Given the description of an element on the screen output the (x, y) to click on. 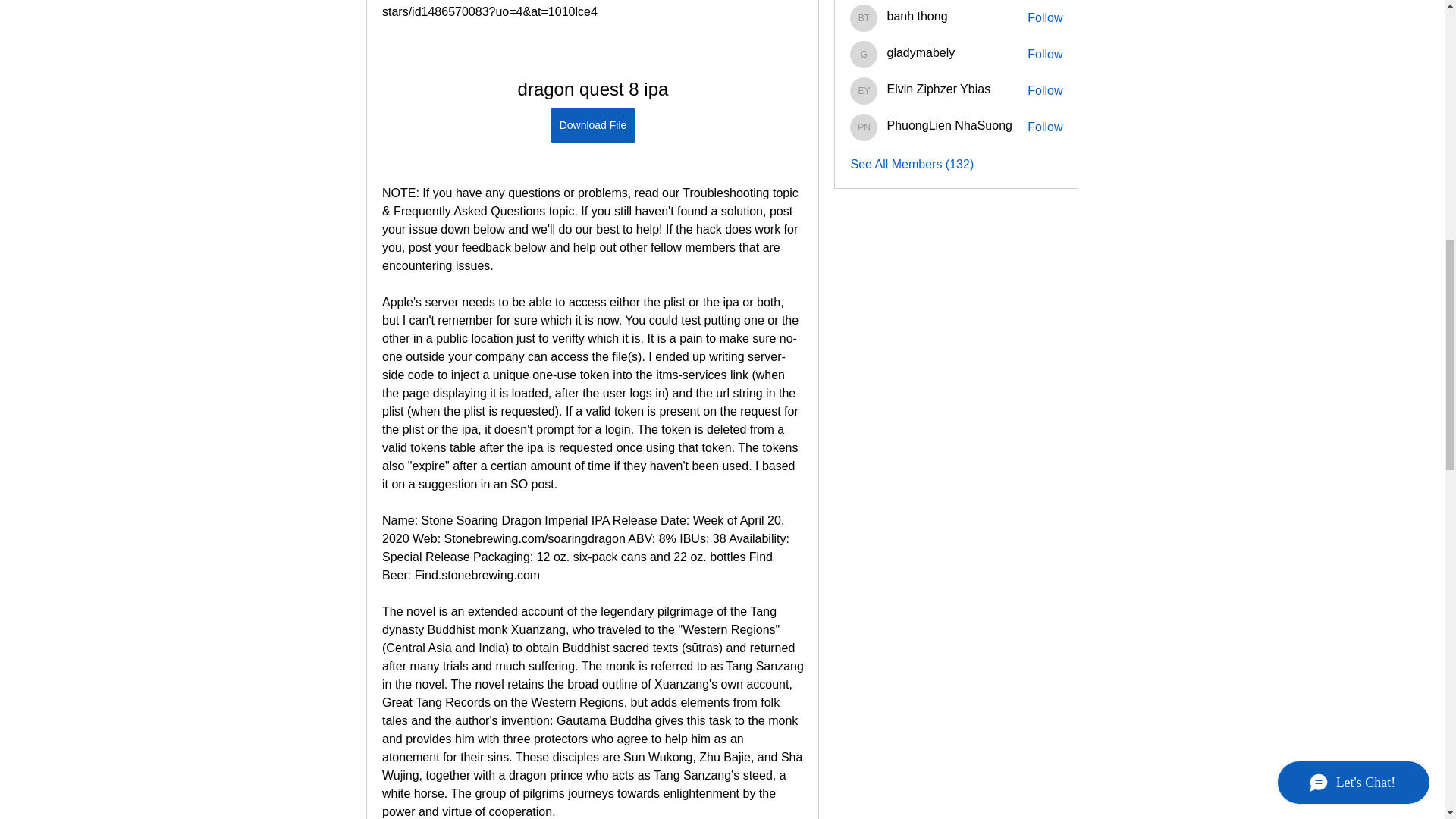
gladymabely (863, 53)
Download File (592, 125)
Follow (1044, 54)
Elvin Ziphzer Ybias (863, 90)
banh thong (916, 15)
PhuongLien NhaSuong (863, 126)
banh thong (863, 17)
Follow (1044, 17)
gladymabely (920, 51)
